Given the description of an element on the screen output the (x, y) to click on. 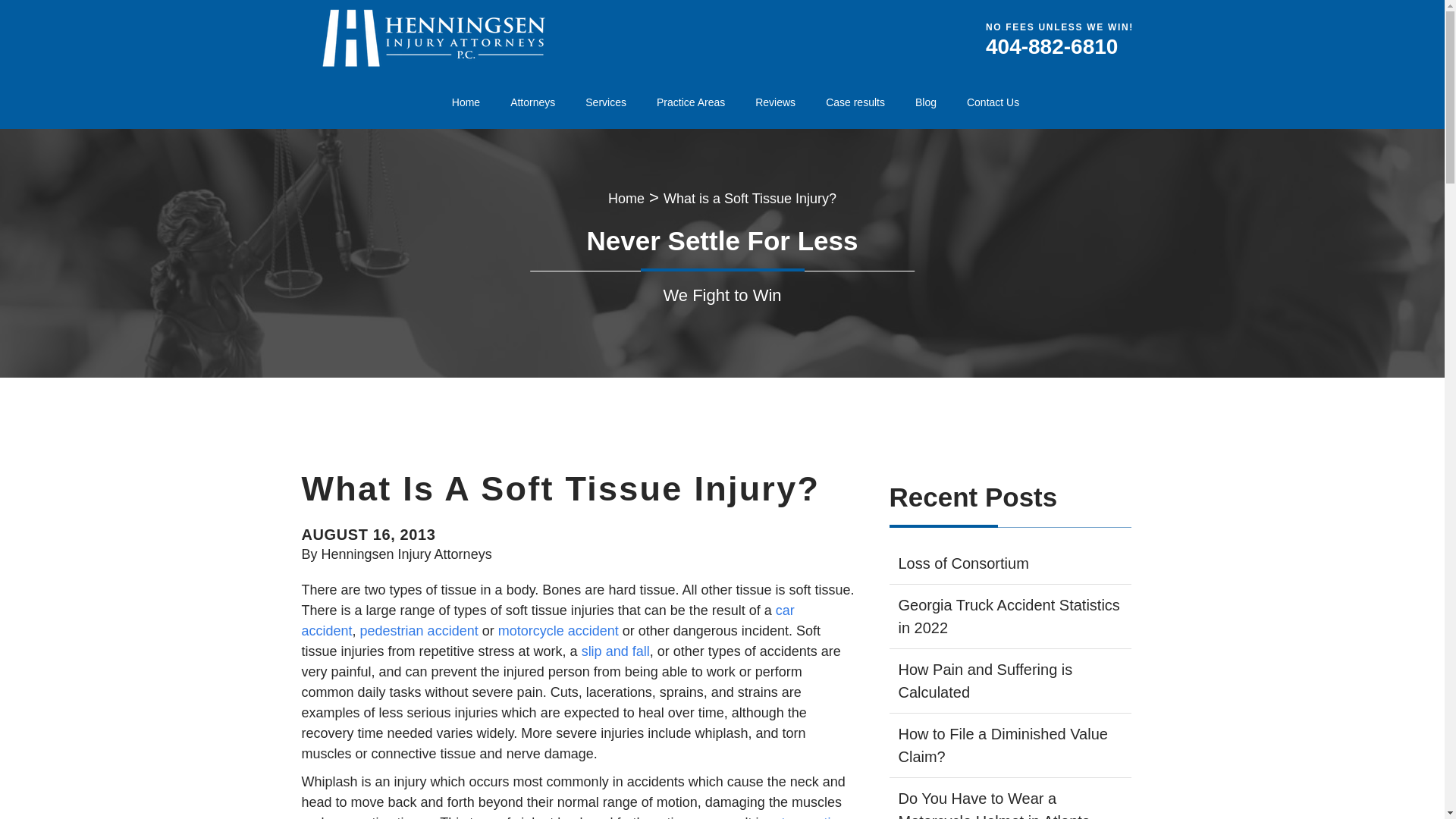
Home (465, 102)
404-882-6810 (1051, 46)
Home (626, 198)
Services (606, 102)
pedestrian accident (419, 630)
Case results (854, 102)
Henningsen Injury Attorneys, P.C. (434, 38)
Blog (925, 102)
Contact Us (992, 102)
Reviews (774, 102)
